Given the description of an element on the screen output the (x, y) to click on. 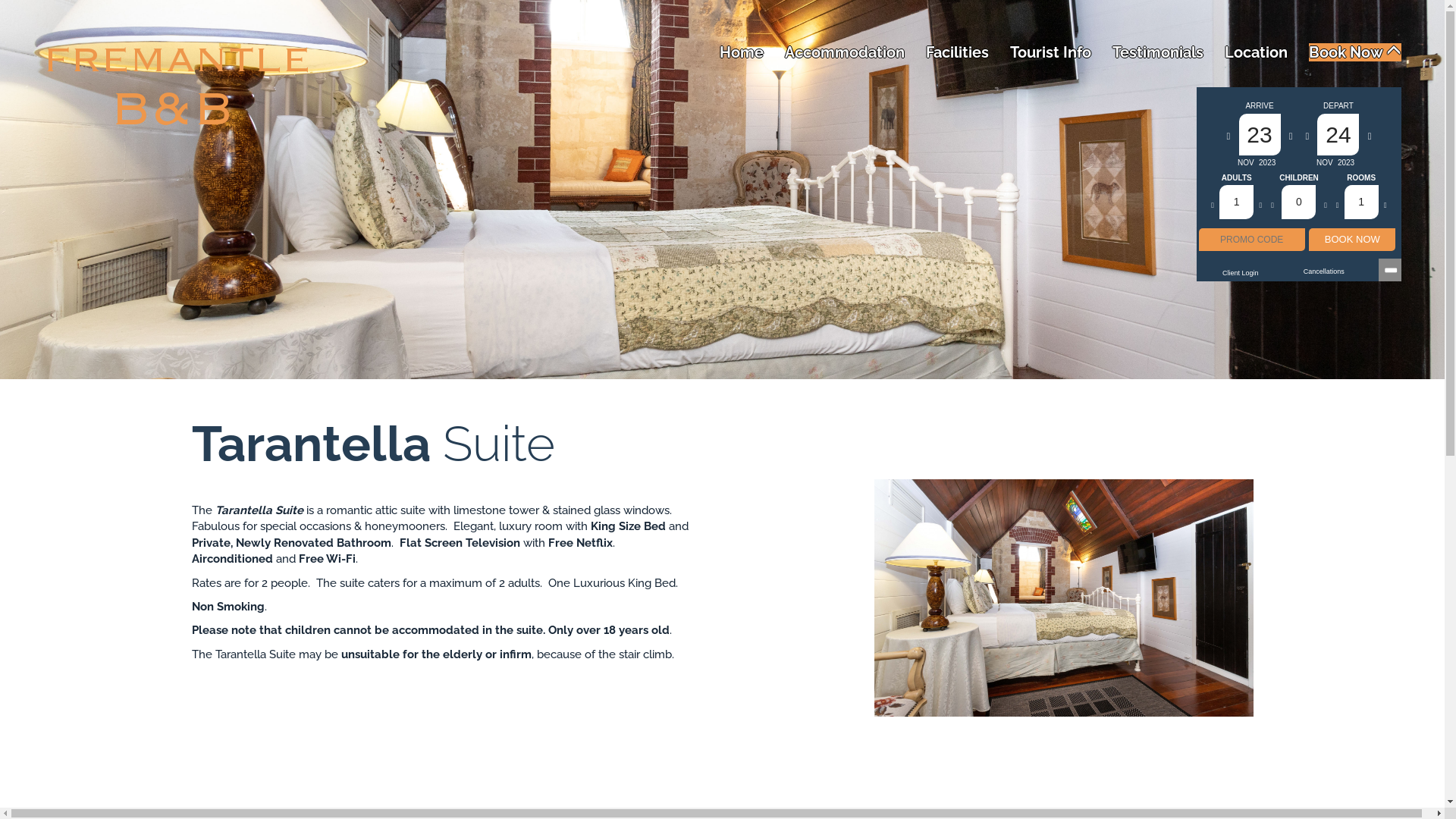
Book Now Element type: text (1354, 52)
Accommodation Element type: text (844, 52)
Tourist Info Element type: text (1050, 52)
Location Element type: text (1255, 52)
Cancellations Element type: text (1323, 271)
Home Element type: text (741, 52)
Facilities Element type: text (956, 52)
Client Login Element type: text (1240, 272)
Testimonials Element type: text (1157, 52)
BOOK NOW Element type: text (1351, 239)
